Given the description of an element on the screen output the (x, y) to click on. 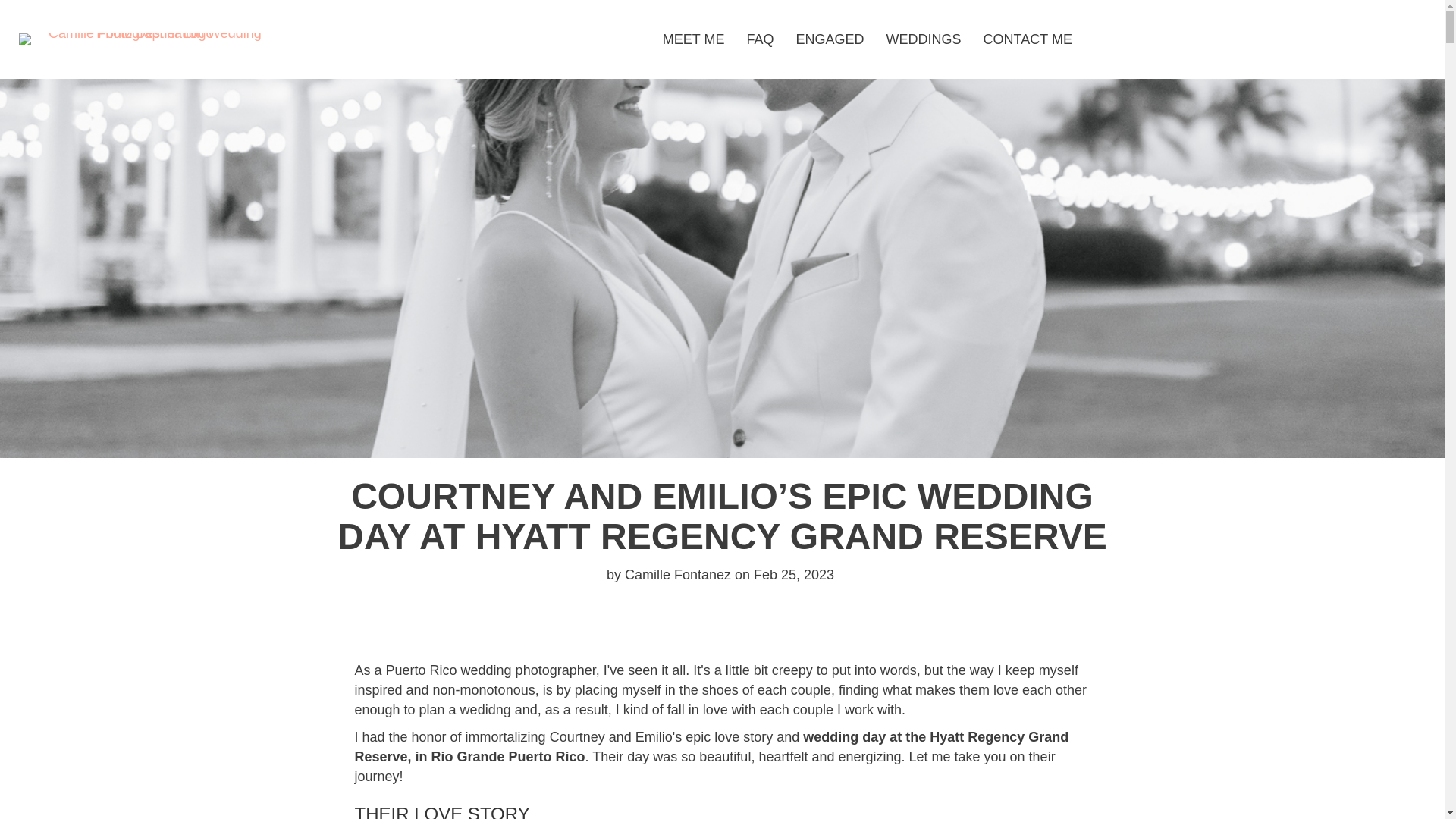
MEET ME (693, 38)
Camille Fontz Destination Wedding Photographer Logo (148, 39)
ENGAGED (830, 38)
CONTACT ME (1027, 38)
FAQ (760, 38)
WEDDINGS (924, 38)
